Given the description of an element on the screen output the (x, y) to click on. 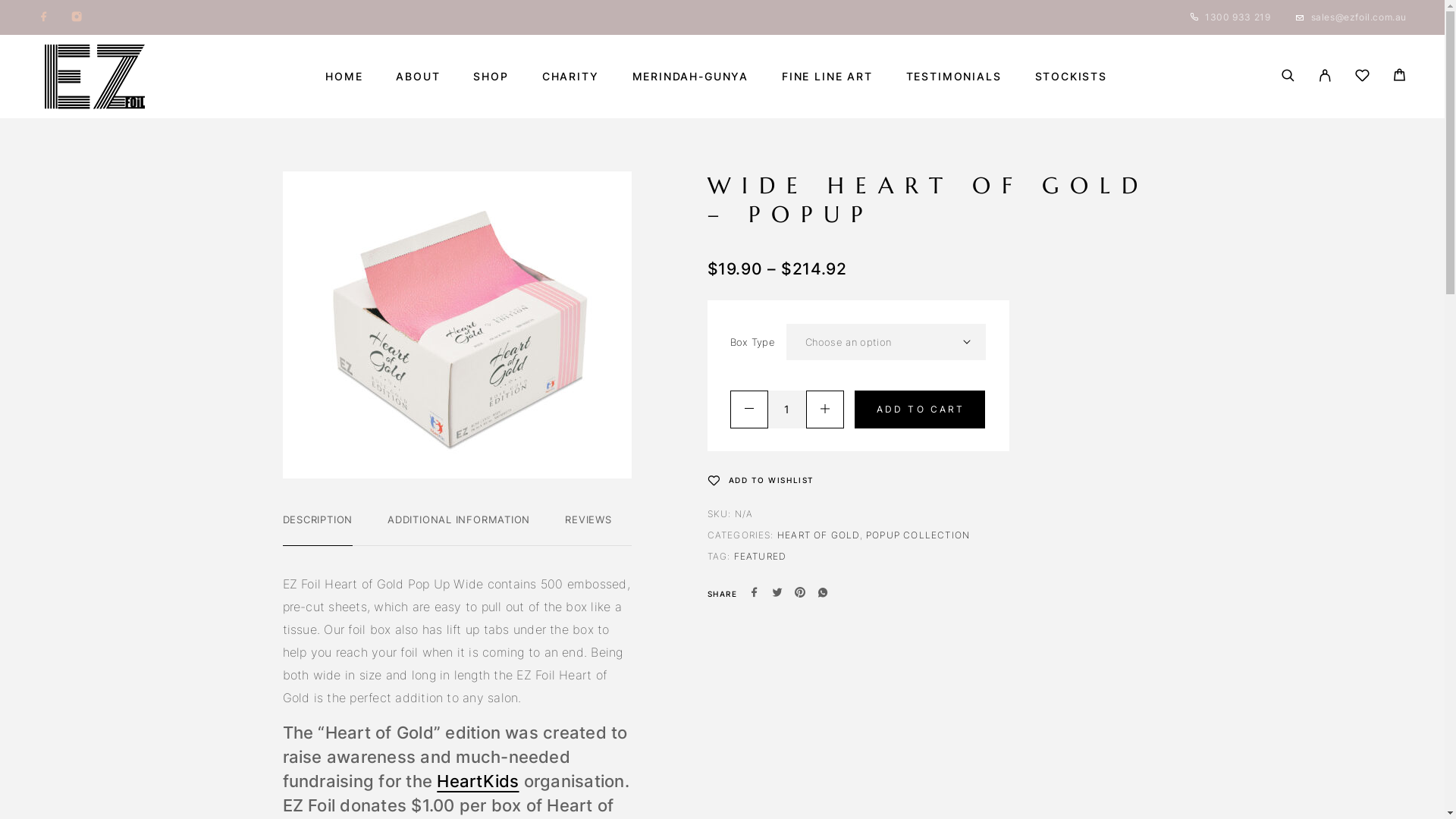
HeartKids Element type: text (477, 780)
SHOP Element type: text (490, 76)
FINE LINE ART Element type: text (826, 76)
ADD TO WISHLIST Element type: text (759, 479)
sales@ezfoil.com.au Element type: text (1358, 16)
1300 933 219 Element type: text (1237, 16)
Share on Twitter Element type: hover (776, 593)
CHARITY Element type: text (570, 76)
FEATURED Element type: text (760, 555)
Share on Whatsapp Element type: hover (822, 593)
DESCRIPTION Element type: text (317, 519)
REVIEWS Element type: text (587, 519)
MERINDAH-GUNYA Element type: text (690, 76)
Qty Element type: hover (786, 409)
ADD TO CART Element type: text (918, 409)
HEART OF GOLD Element type: text (818, 534)
Pin on Pinterest Element type: hover (799, 593)
HOME Element type: text (343, 76)
STOCKISTS Element type: text (1071, 76)
Share on Facebook Element type: hover (754, 593)
ADDITIONAL INFORMATION Element type: text (458, 519)
POPUP COLLECTION Element type: text (917, 534)
Login Element type: hover (1324, 76)
TESTIMONIALS Element type: text (953, 76)
ABOUT Element type: text (417, 76)
